Given the description of an element on the screen output the (x, y) to click on. 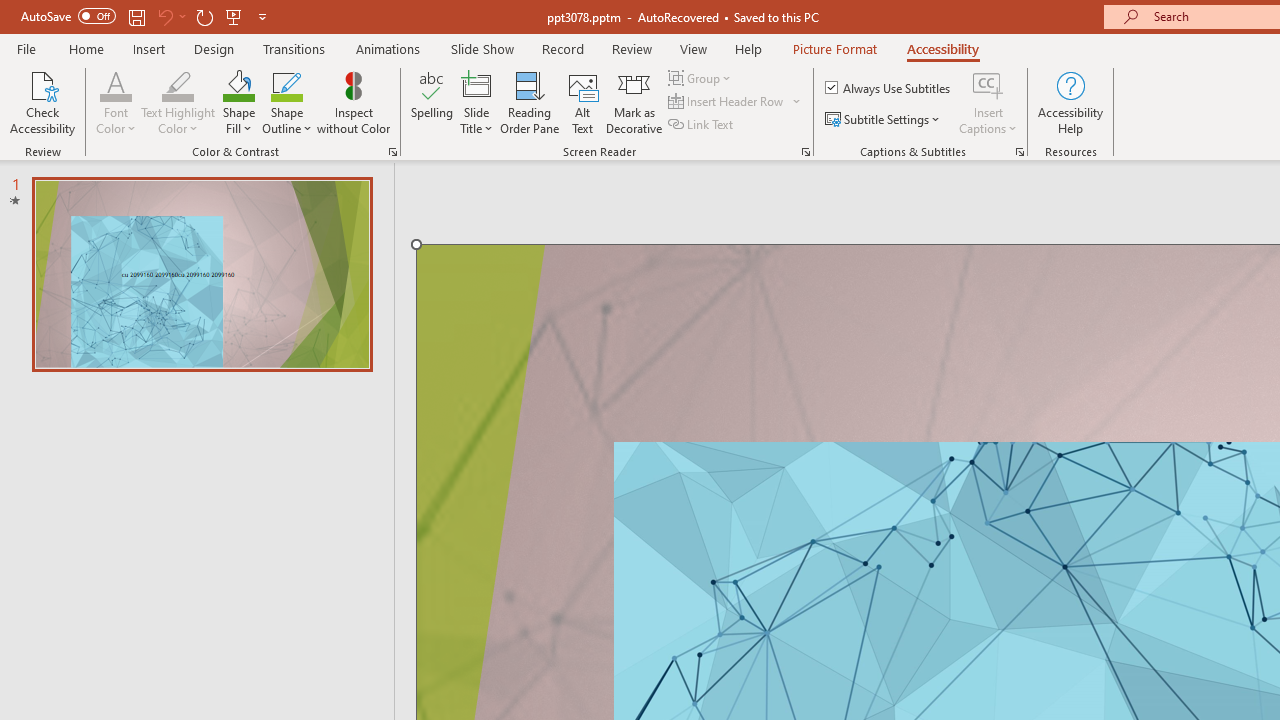
Shape Fill Dark Green, Accent 2 (238, 84)
Accessibility Help (1070, 102)
Reading Order Pane (529, 102)
